Given the description of an element on the screen output the (x, y) to click on. 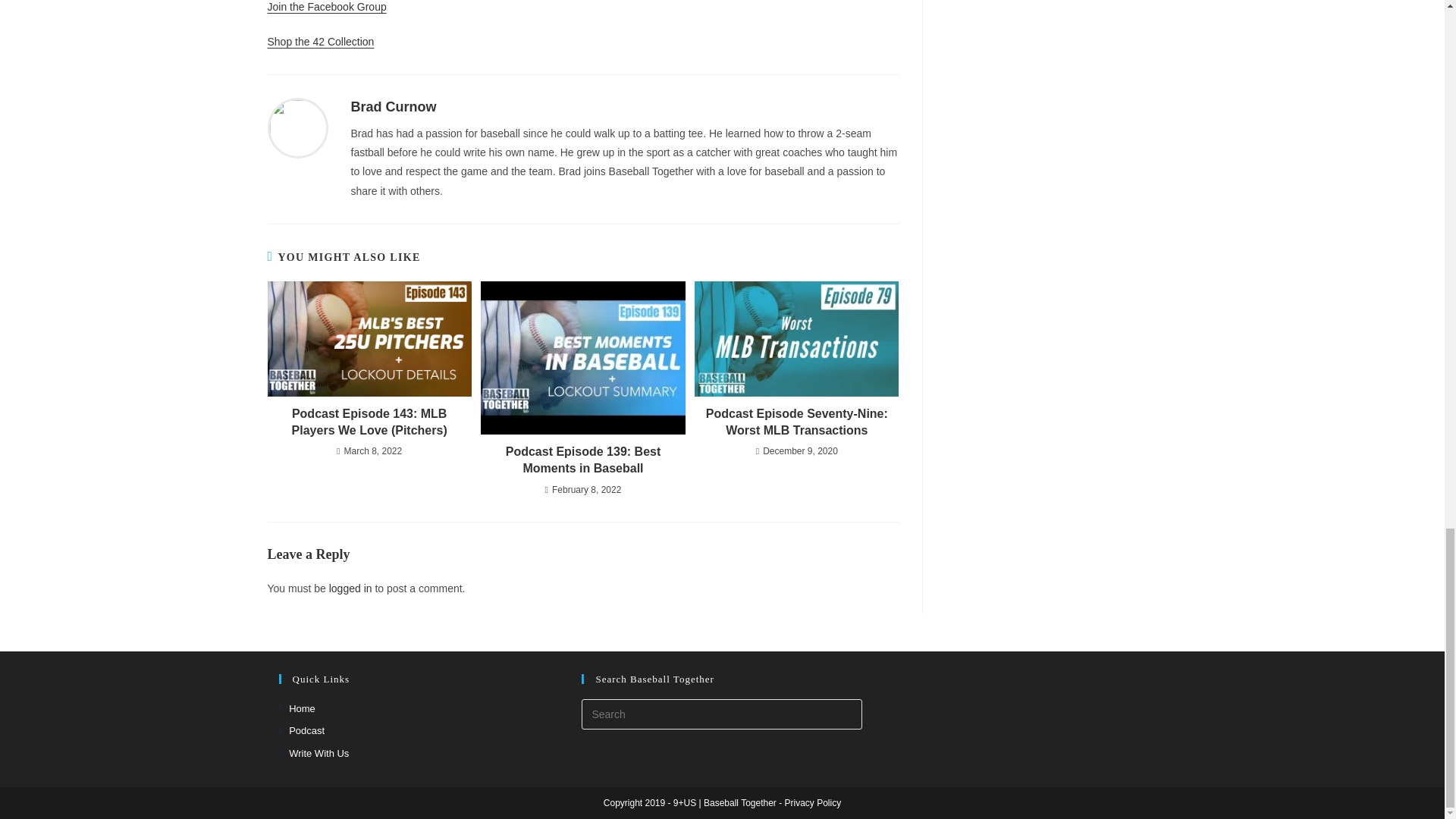
Podcast Episode 139: Best Moments in Baseball (582, 460)
Visit Author Page (392, 106)
Podcast Episode 139: Best Moments in Baseball (582, 460)
Podcast Episode Seventy-Nine: Worst MLB Transactions (796, 422)
Brad Curnow (392, 106)
Shop the 42 Collection (320, 41)
Join the Facebook Group (325, 6)
Visit Author Page (296, 126)
Podcast Episode Seventy-Nine: Worst MLB Transactions (796, 422)
